Given the description of an element on the screen output the (x, y) to click on. 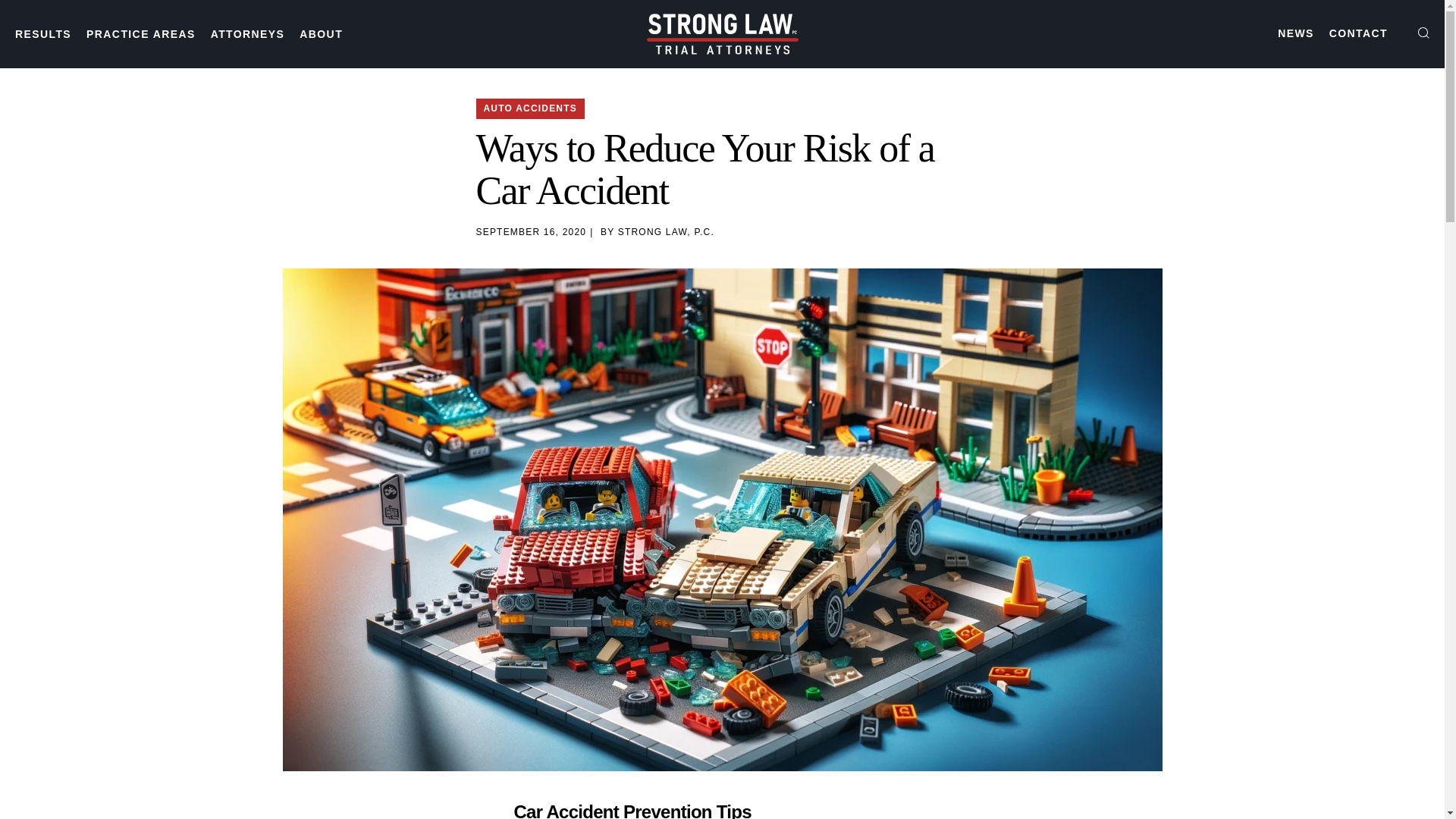
CONTACT (1358, 33)
ABOUT (320, 33)
NEWS (1296, 33)
RESULTS (42, 33)
AUTO ACCIDENTS (530, 108)
PRACTICE AREAS (140, 33)
ATTORNEYS (248, 33)
